Given the description of an element on the screen output the (x, y) to click on. 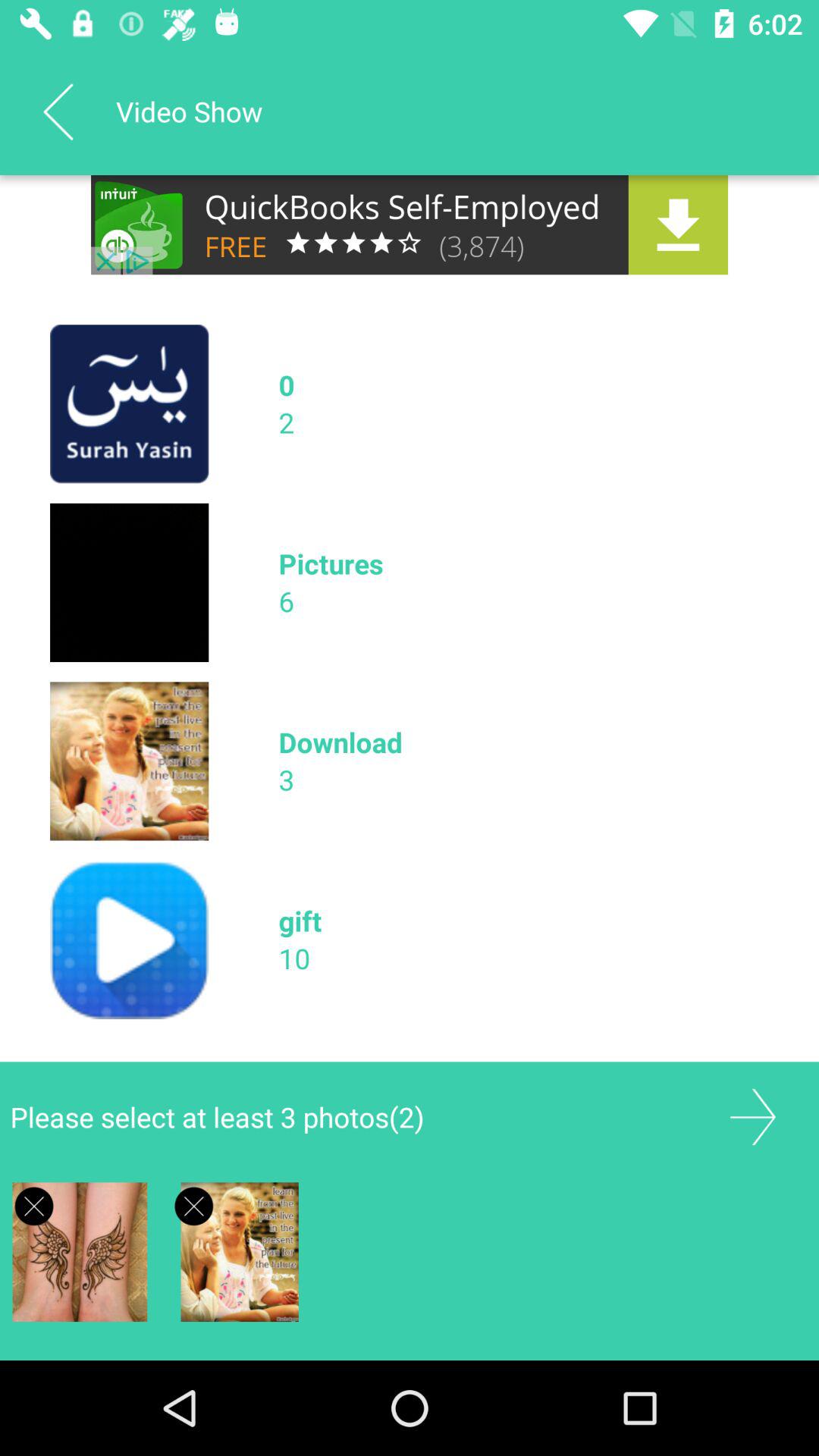
forward (752, 1116)
